Given the description of an element on the screen output the (x, y) to click on. 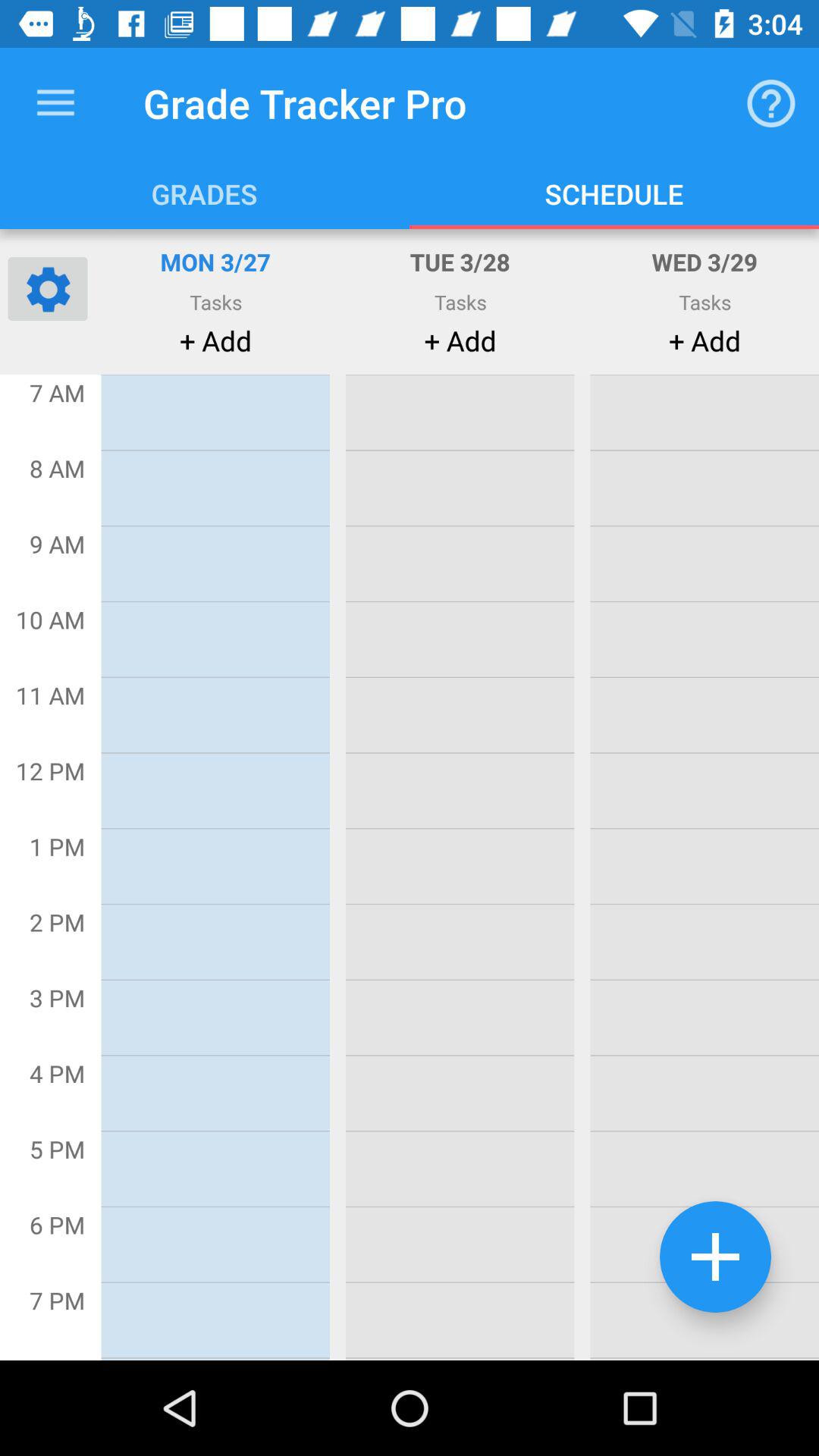
add task (715, 1256)
